Given the description of an element on the screen output the (x, y) to click on. 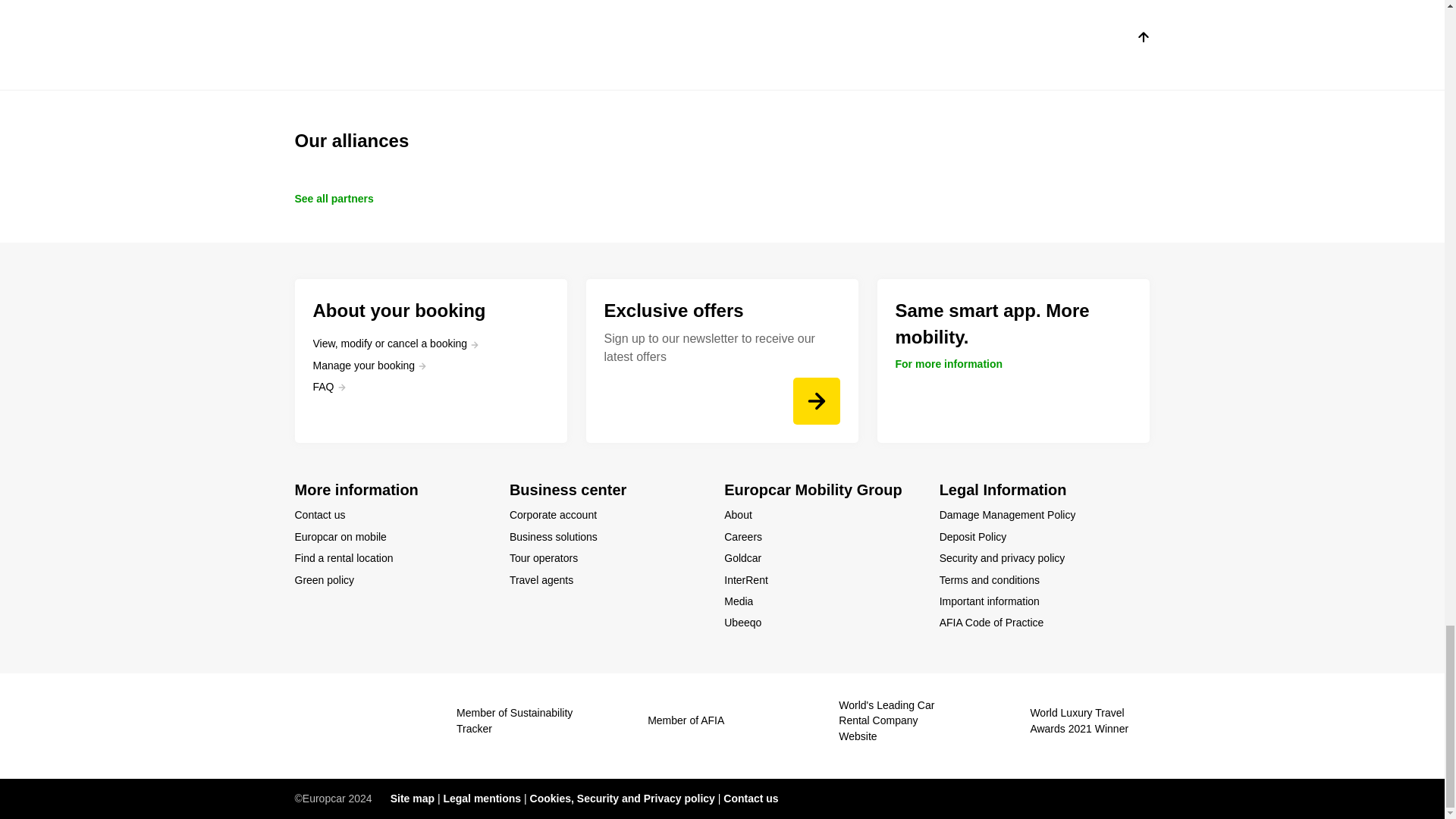
For more information (949, 363)
More information (392, 490)
See all partners (333, 198)
Our alliances (722, 140)
View, modify or cancel a booking (396, 343)
Manage your booking (369, 365)
FAQ (329, 386)
top (1142, 39)
